Given the description of an element on the screen output the (x, y) to click on. 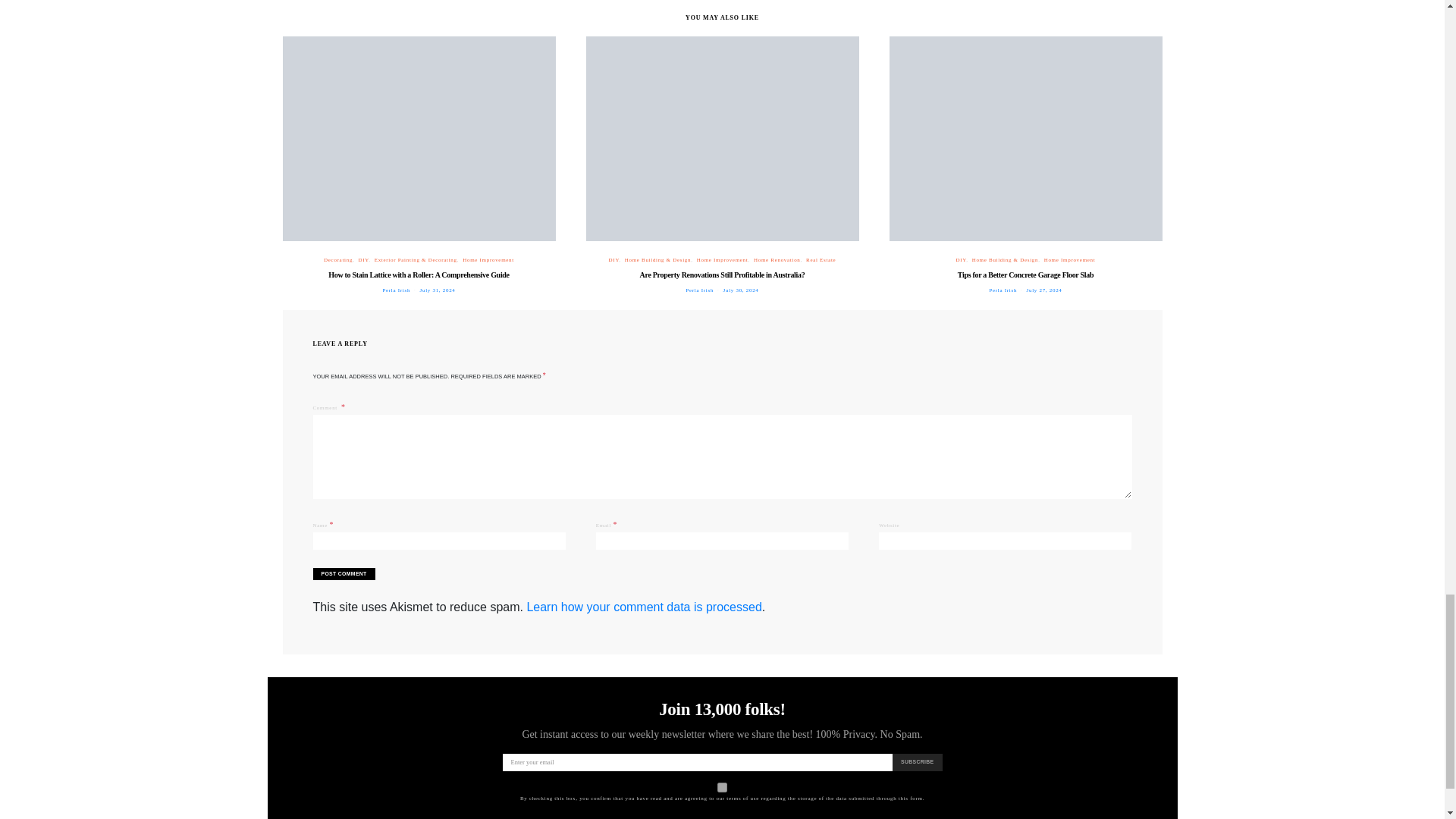
View all posts by Perla Irish (1002, 290)
Post Comment (343, 573)
View all posts by Perla Irish (395, 290)
on (722, 787)
View all posts by Perla Irish (699, 290)
